Given the description of an element on the screen output the (x, y) to click on. 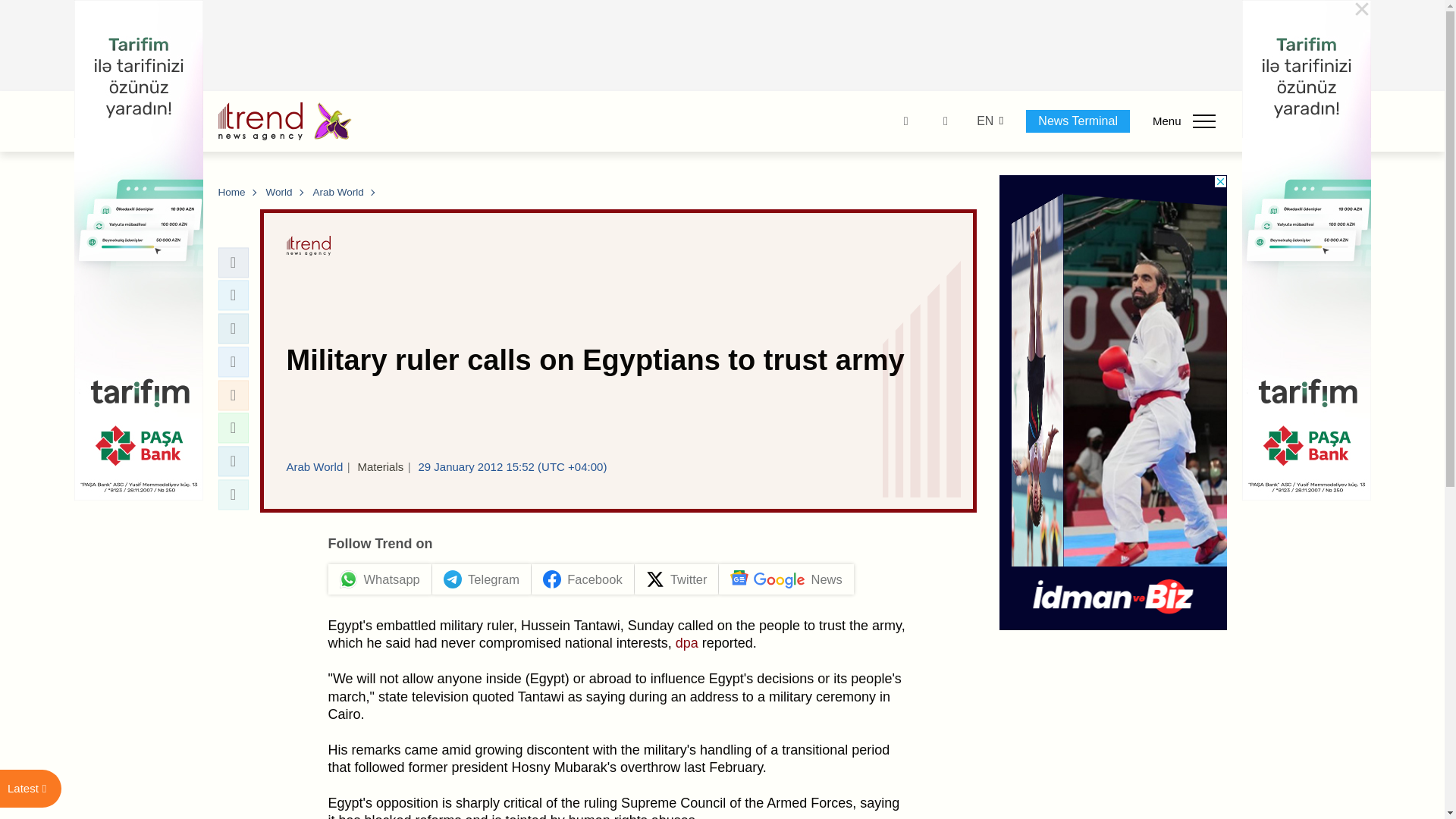
EN (984, 121)
News Terminal (1077, 120)
English (984, 121)
3rd party ad content (722, 45)
